Given the description of an element on the screen output the (x, y) to click on. 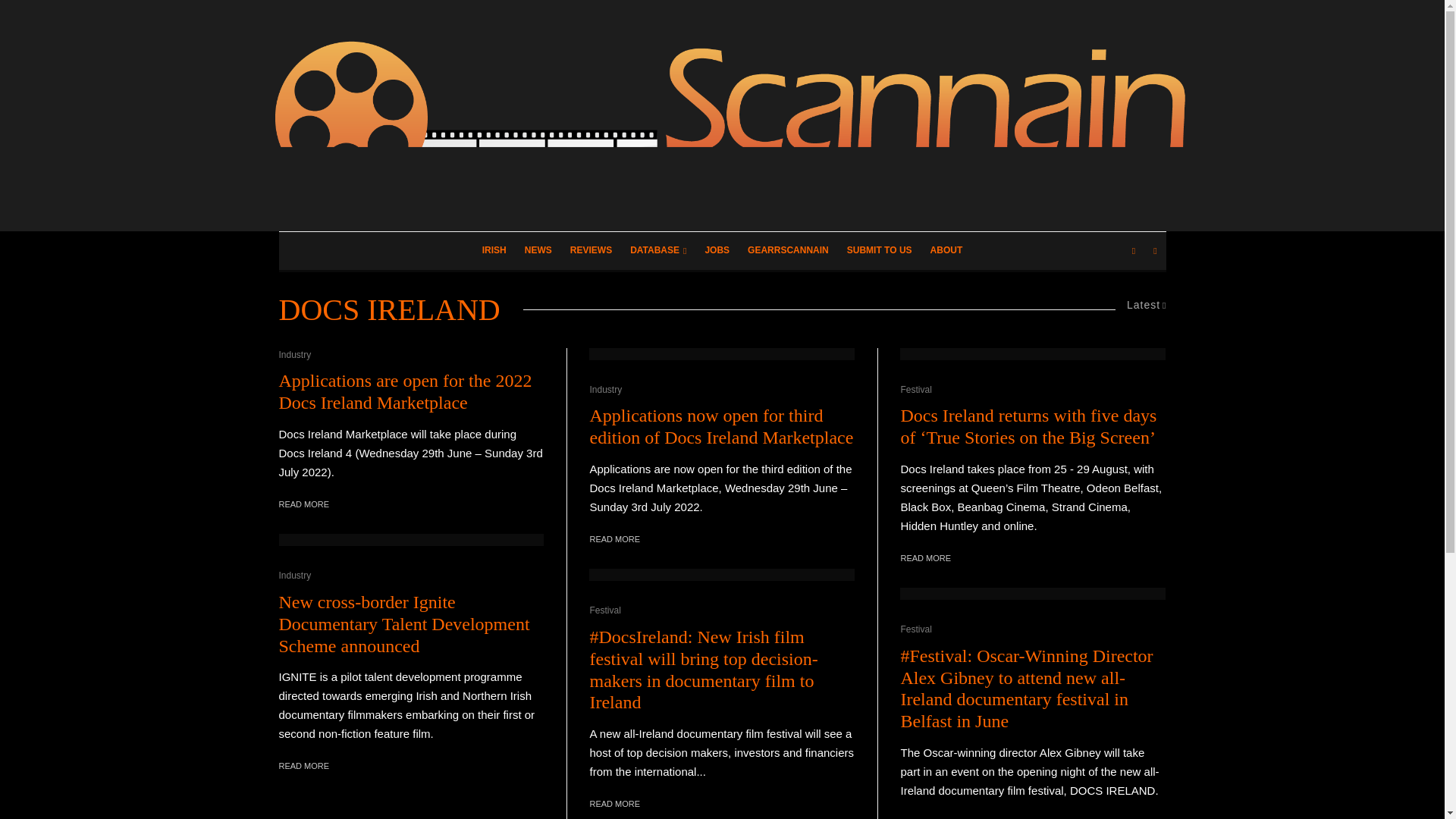
IRISH (494, 250)
Docs Ireland 2 (1032, 353)
NEWS (537, 250)
REVIEWS (590, 250)
DATABASE (658, 250)
docs ireland logo (721, 353)
